Given the description of an element on the screen output the (x, y) to click on. 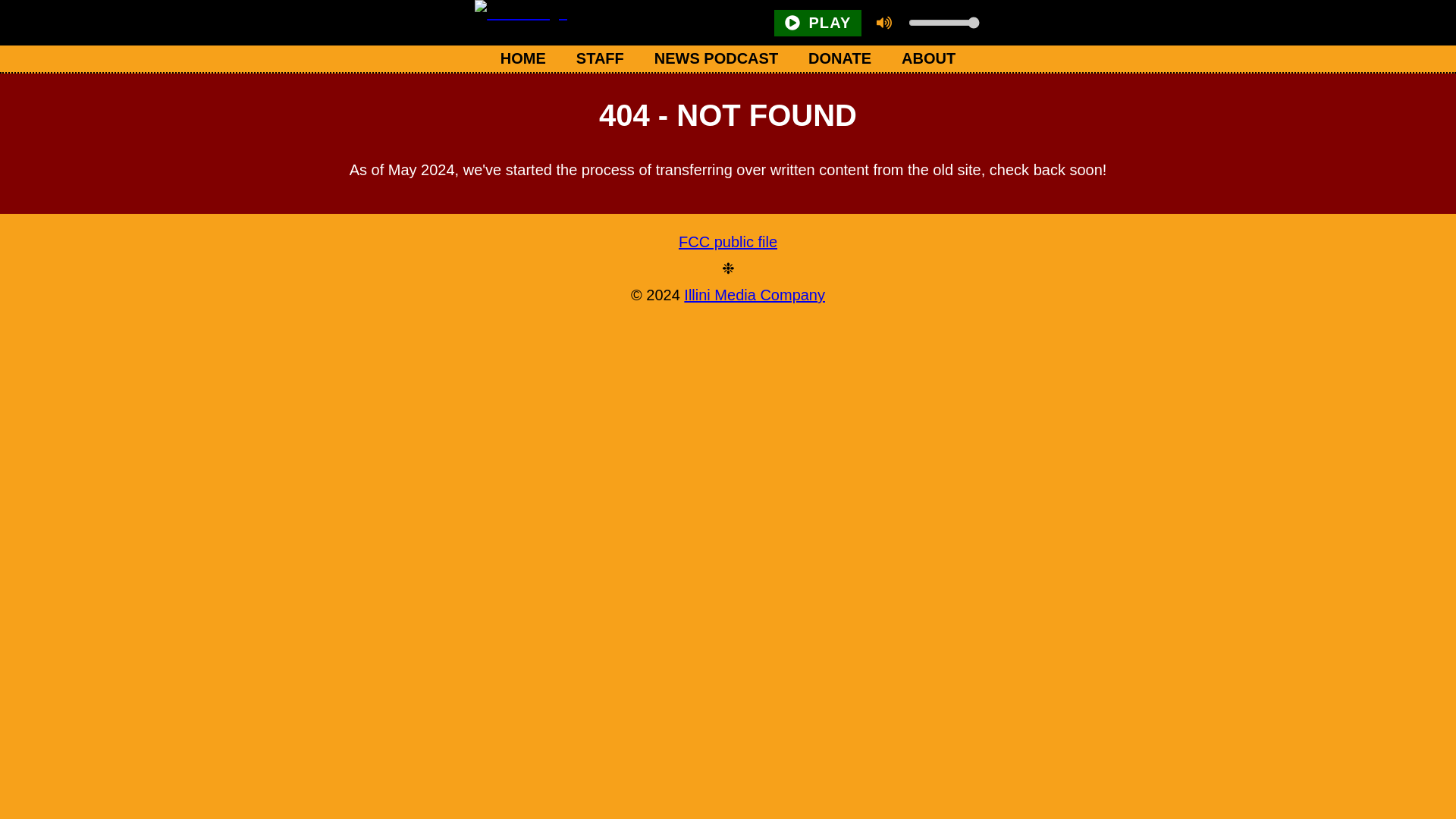
PLAY (817, 22)
FCC public file (727, 242)
STAFF (599, 58)
Illini Media Company (754, 294)
1 (943, 22)
DONATE (839, 58)
ABOUT (928, 58)
HOME (522, 58)
NEWS PODCAST (716, 58)
